Given the description of an element on the screen output the (x, y) to click on. 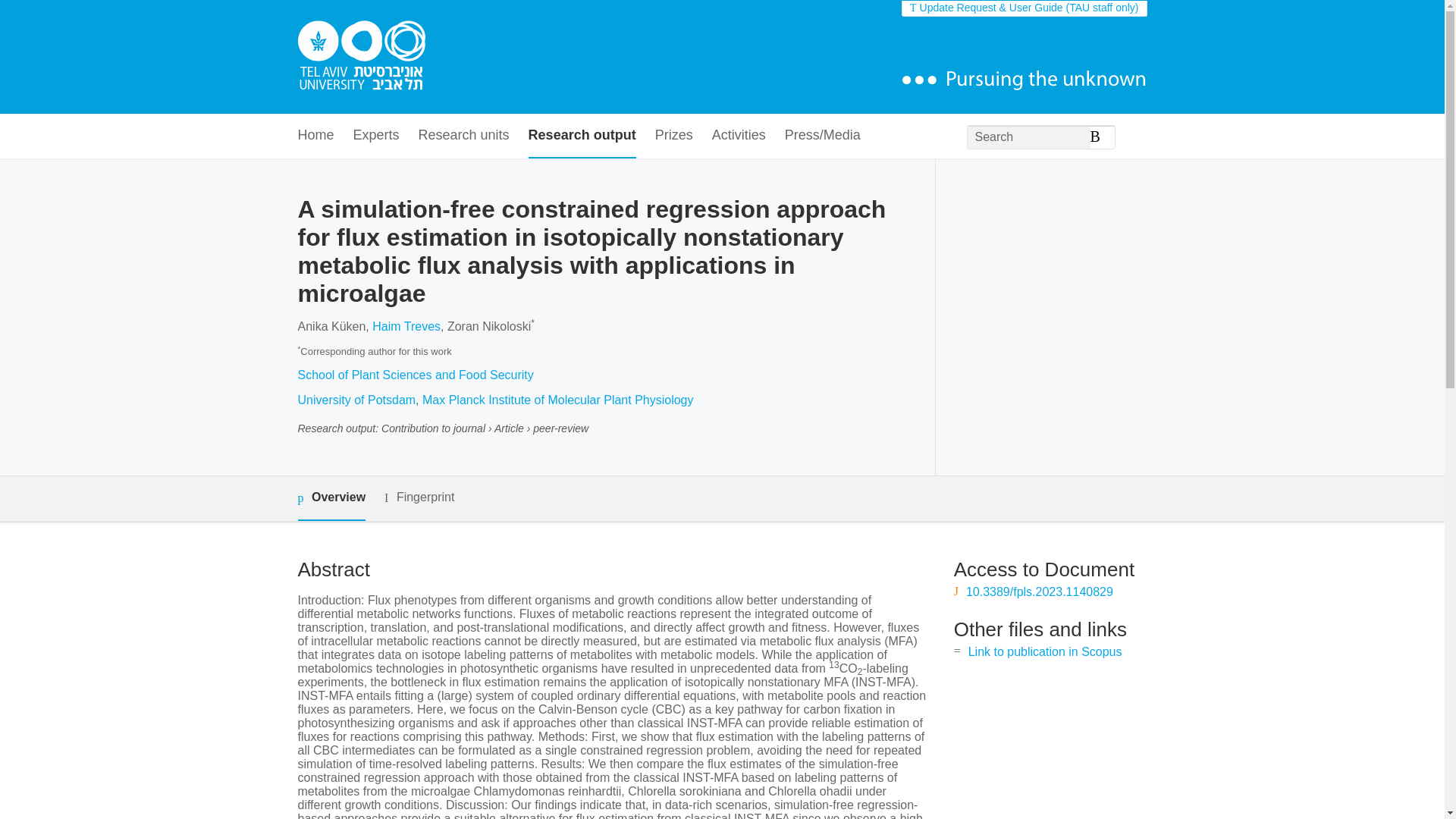
University of Potsdam (355, 399)
Research output (582, 135)
Tel Aviv University Home (361, 56)
Activities (738, 135)
Haim Treves (406, 326)
School of Plant Sciences and Food Security (414, 374)
Max Planck Institute of Molecular Plant Physiology (558, 399)
Overview (331, 497)
Experts (375, 135)
Fingerprint (419, 497)
Link to publication in Scopus (1045, 651)
Research units (464, 135)
